Given the description of an element on the screen output the (x, y) to click on. 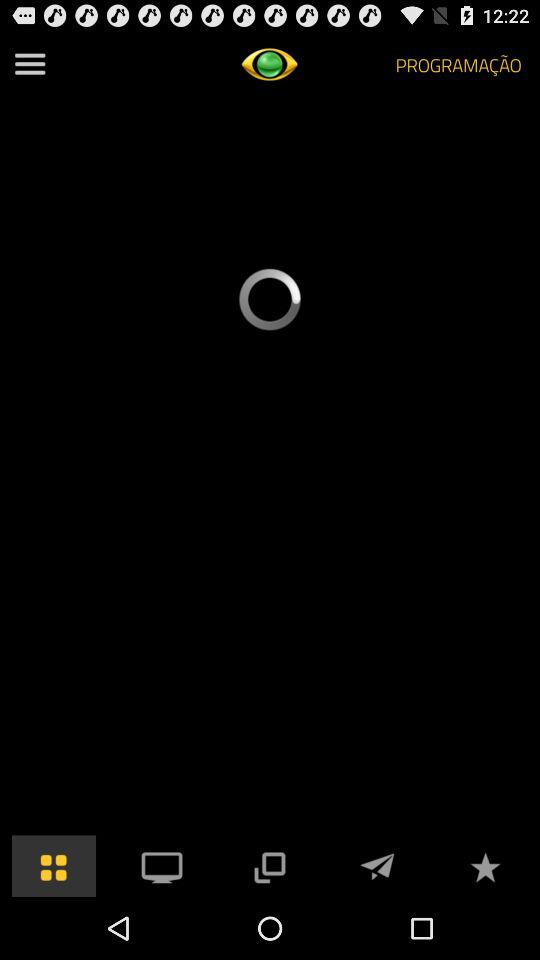
go to arrow (377, 865)
